Given the description of an element on the screen output the (x, y) to click on. 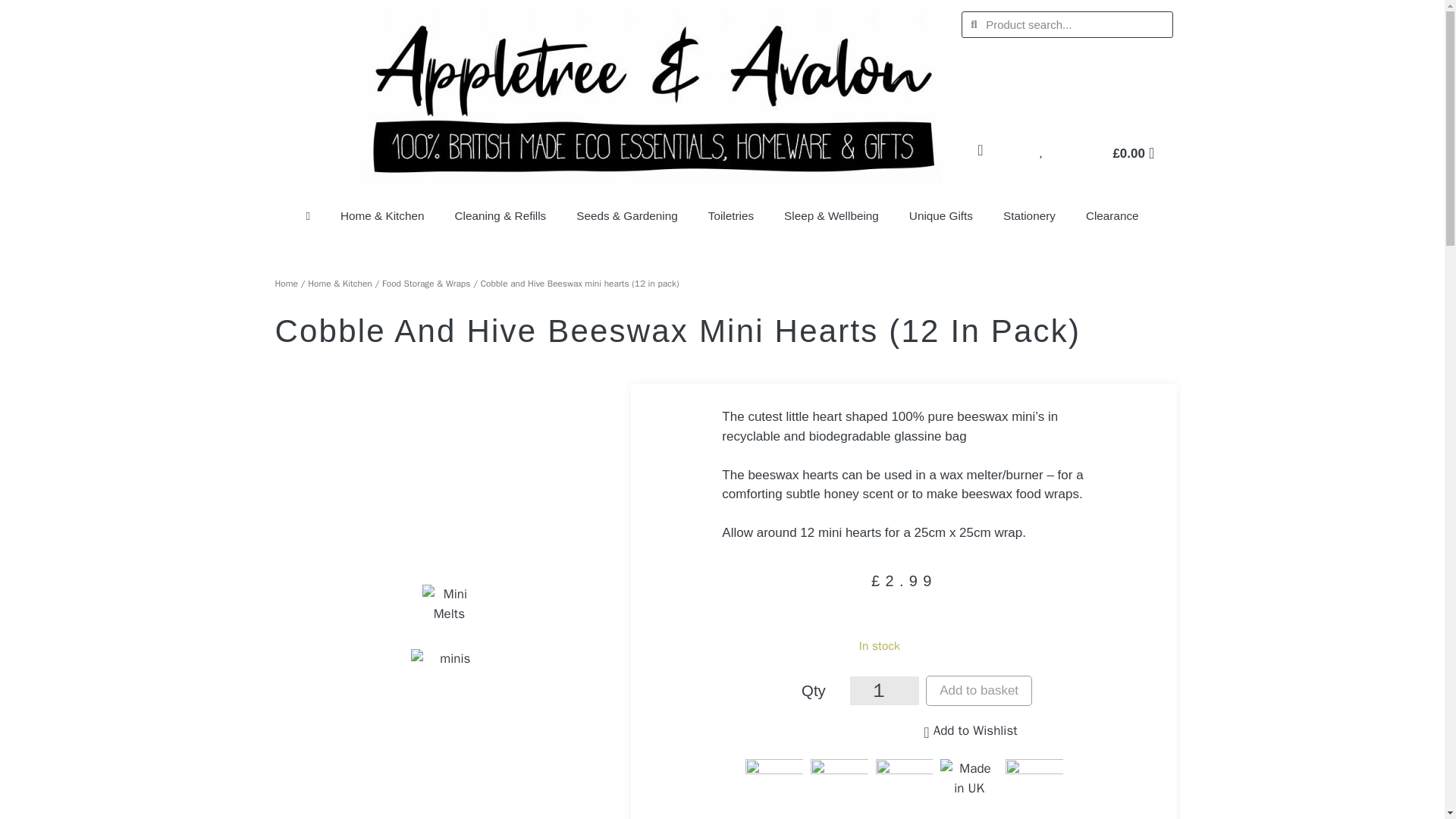
Stationery (1029, 216)
1 (884, 690)
Clearance (1112, 216)
Toiletries (730, 216)
Unique Gifts (940, 216)
